Given the description of an element on the screen output the (x, y) to click on. 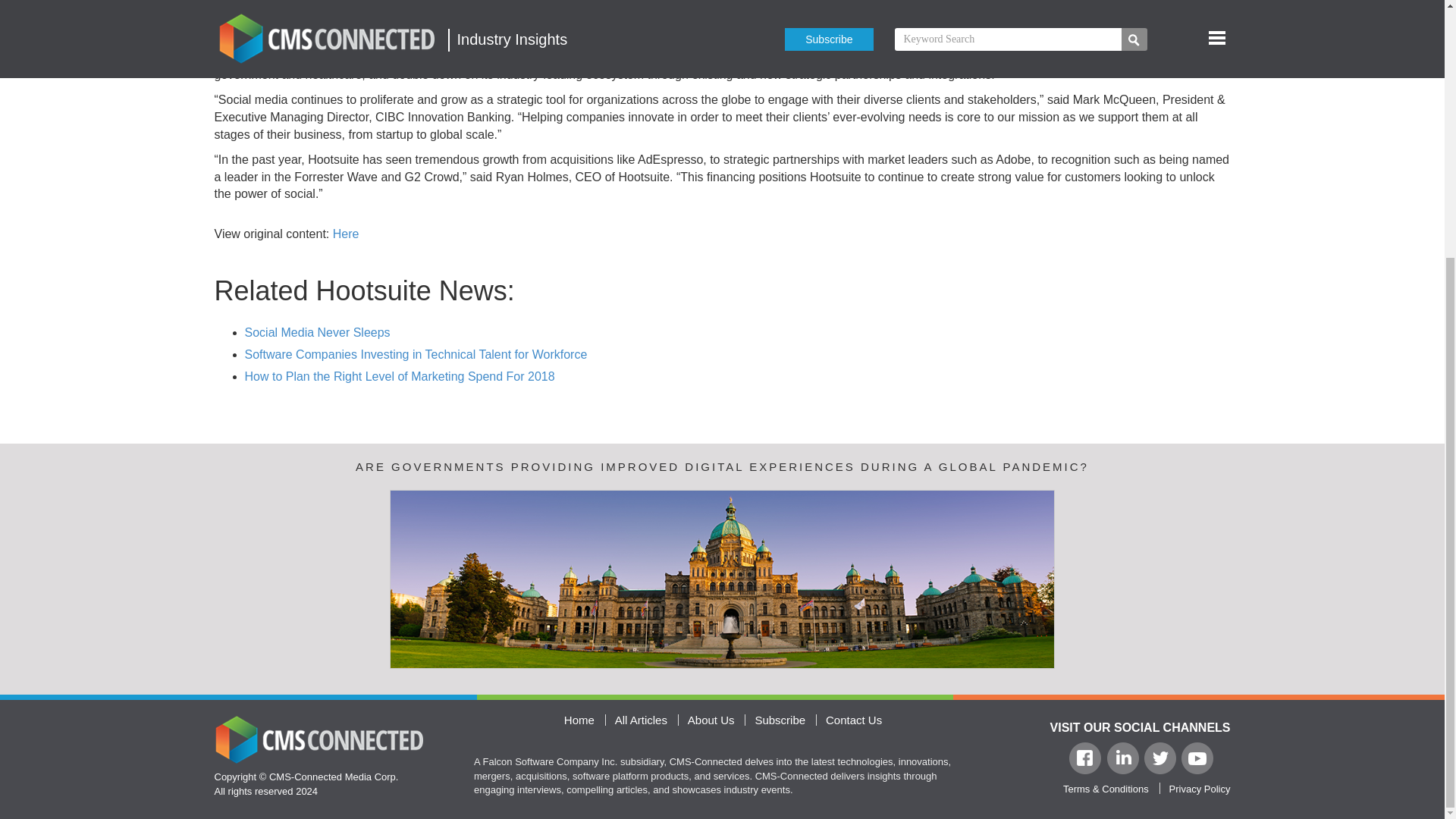
Contact Us (853, 719)
All Articles (640, 719)
Here (346, 233)
Subscribe (779, 719)
How to Plan the Right Level of Marketing Spend For 2018 (399, 376)
Privacy Policy (1199, 788)
Home (579, 719)
Social Media Never Sleeps (317, 332)
